Given the description of an element on the screen output the (x, y) to click on. 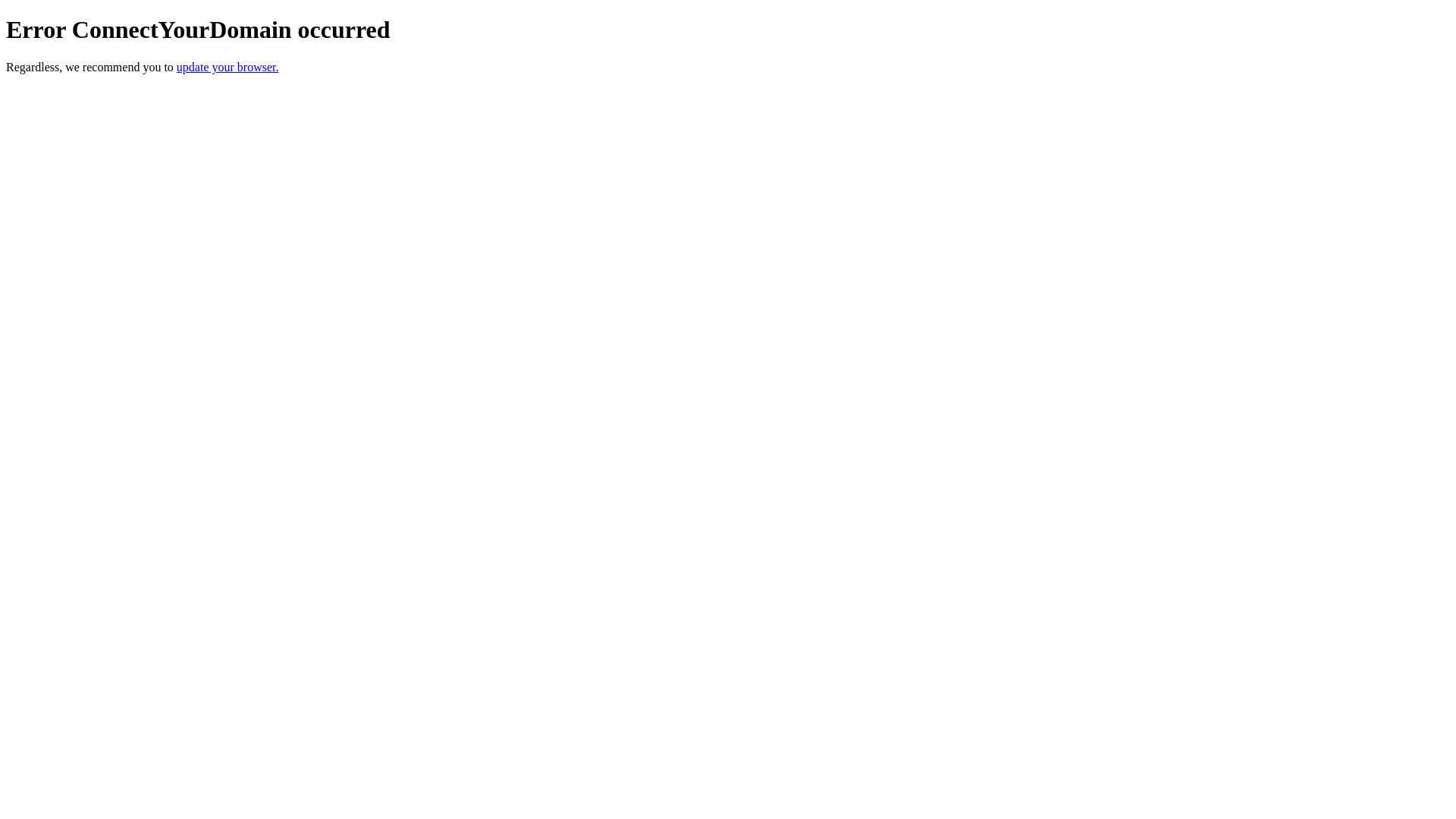
update your browser. Element type: text (227, 66)
